Given the description of an element on the screen output the (x, y) to click on. 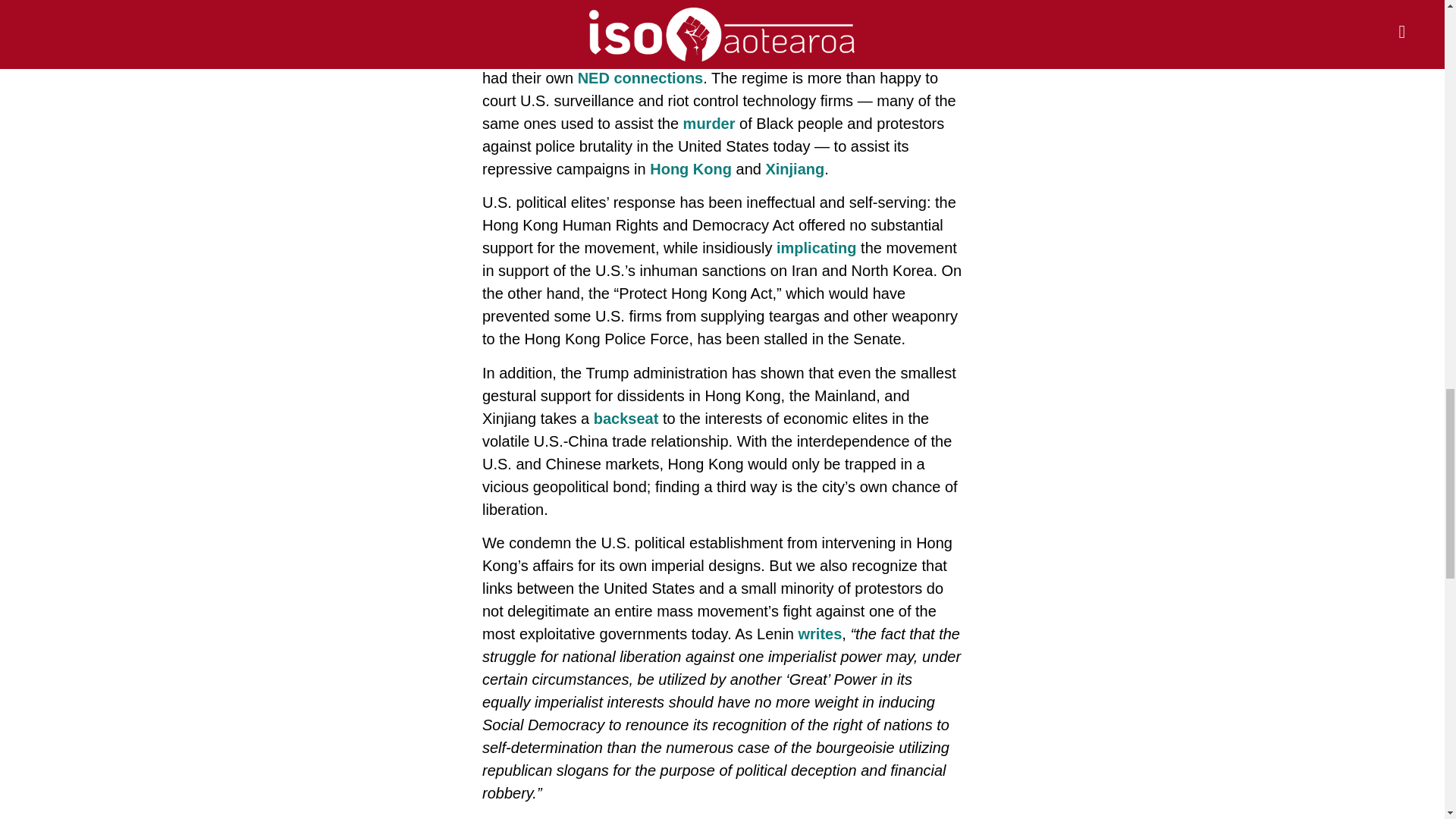
writes (820, 633)
Xinjiang (794, 168)
murder (708, 123)
Hong Kong (690, 168)
NED connections (640, 77)
backseat (626, 418)
implicating (816, 247)
